Given the description of an element on the screen output the (x, y) to click on. 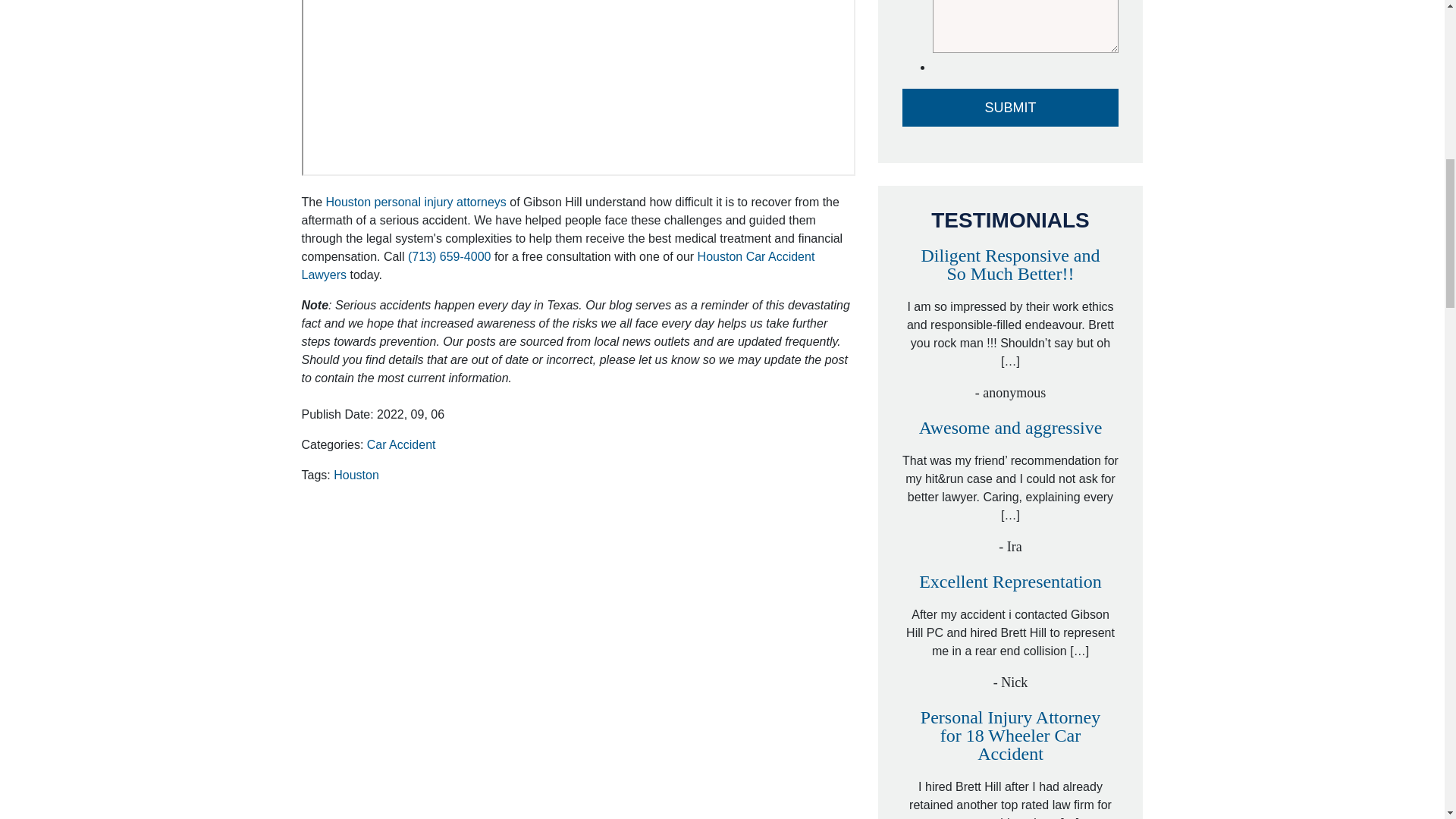
Submit (1010, 107)
Car Accident (400, 444)
Submit (1010, 107)
Houston Car Accident Lawyers (558, 265)
Houston (355, 474)
Houston personal injury attorneys (416, 201)
